Given the description of an element on the screen output the (x, y) to click on. 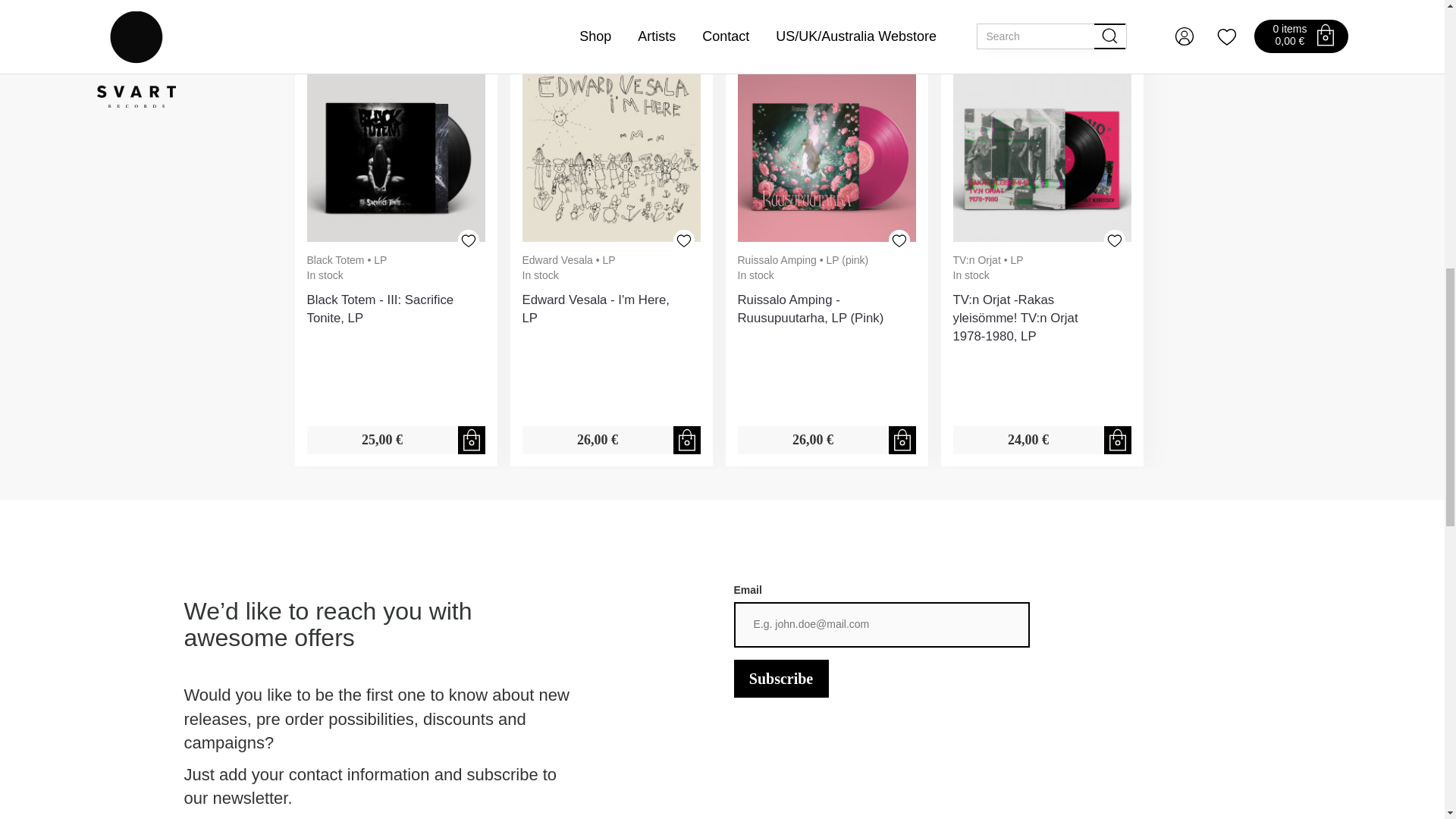
Black Totem - III: Sacrifice Tonite, LP (394, 152)
cart (901, 439)
cart (1117, 439)
cart (686, 439)
cart (471, 439)
Edward Vesala - Im Here, LP (610, 152)
